Given the description of an element on the screen output the (x, y) to click on. 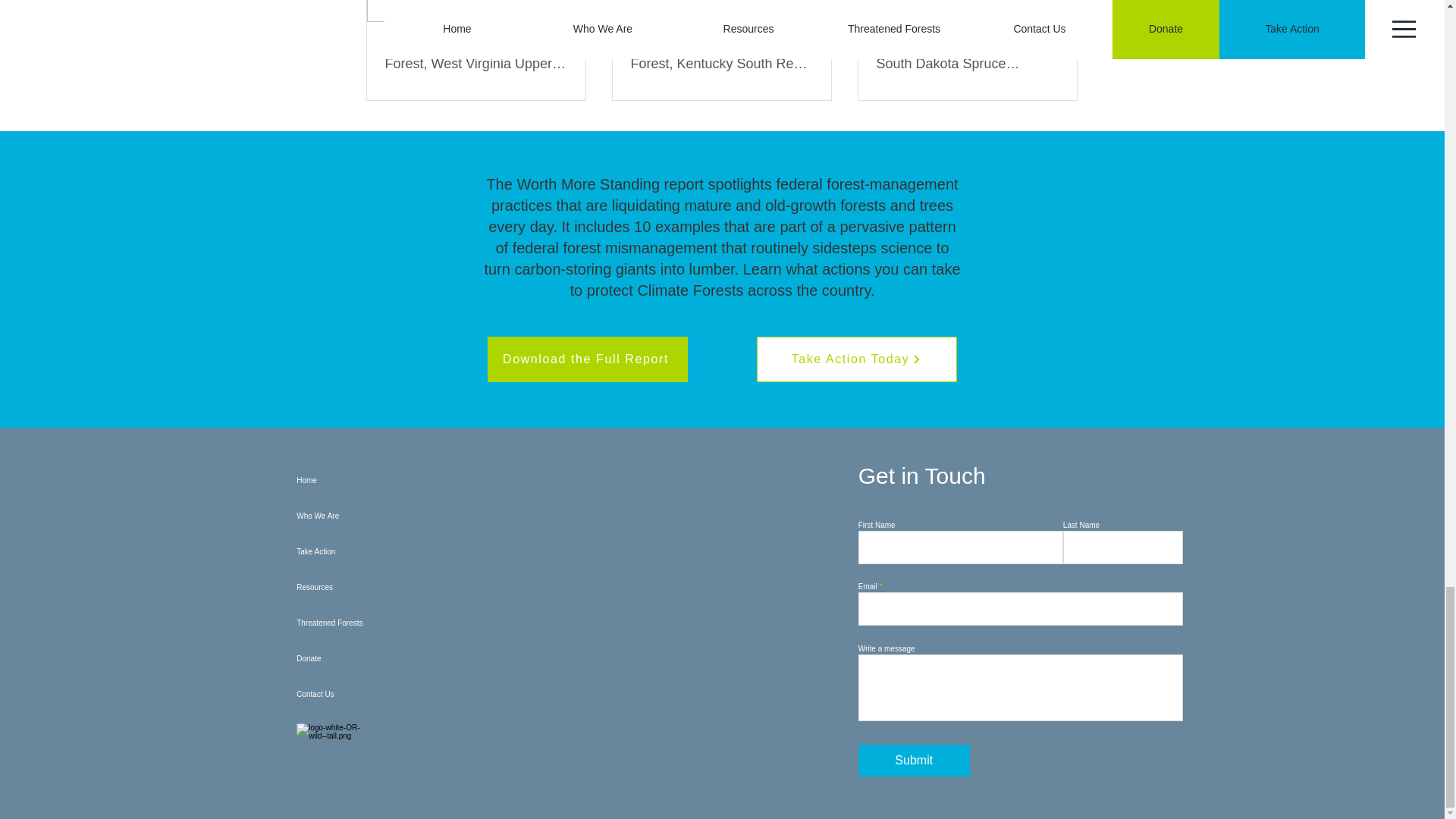
Download the Full Report (586, 359)
Take Action Today (856, 359)
Contact Us (396, 693)
Resources (396, 587)
Threatened Forests (396, 622)
Submit (914, 760)
Who We Are (396, 515)
Home (396, 479)
Take Action (396, 551)
